Given the description of an element on the screen output the (x, y) to click on. 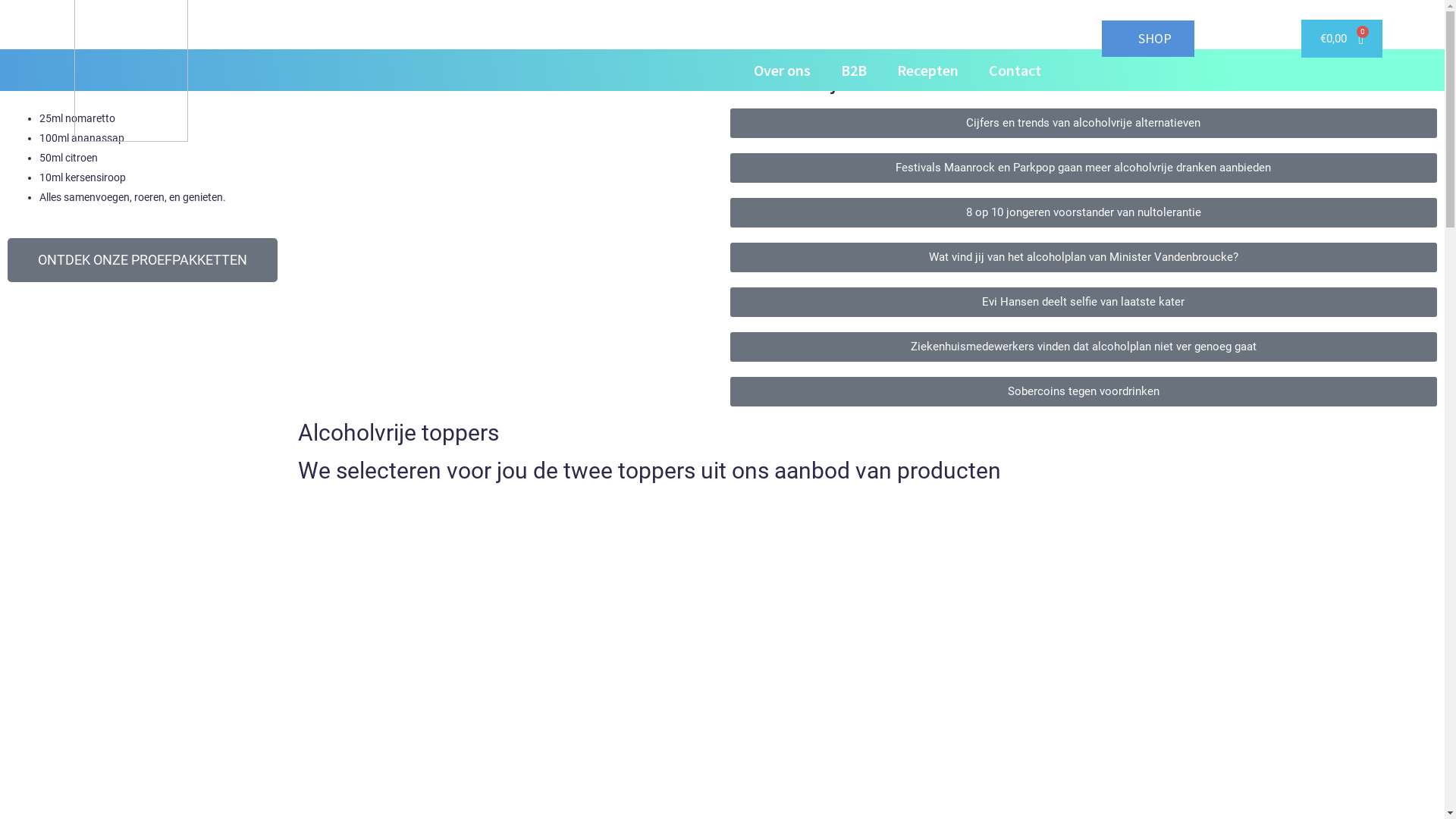
SHOP Element type: text (1147, 38)
Recepten Element type: text (927, 70)
Over ons Element type: text (781, 70)
B2B Element type: text (853, 70)
Cijfers en trends van alcoholvrije alternatieven Element type: text (1083, 123)
ONTDEK ONZE PROEFPAKKETTEN Element type: text (142, 260)
8 op 10 jongeren voorstander van nultolerantie Element type: text (1083, 212)
Sobercoins tegen voordrinken Element type: text (1083, 391)
Wat vind jij van het alcoholplan van Minister Vandenbroucke? Element type: text (1083, 257)
Contact Element type: text (1014, 70)
Evi Hansen deelt selfie van laatste kater Element type: text (1083, 301)
